Given the description of an element on the screen output the (x, y) to click on. 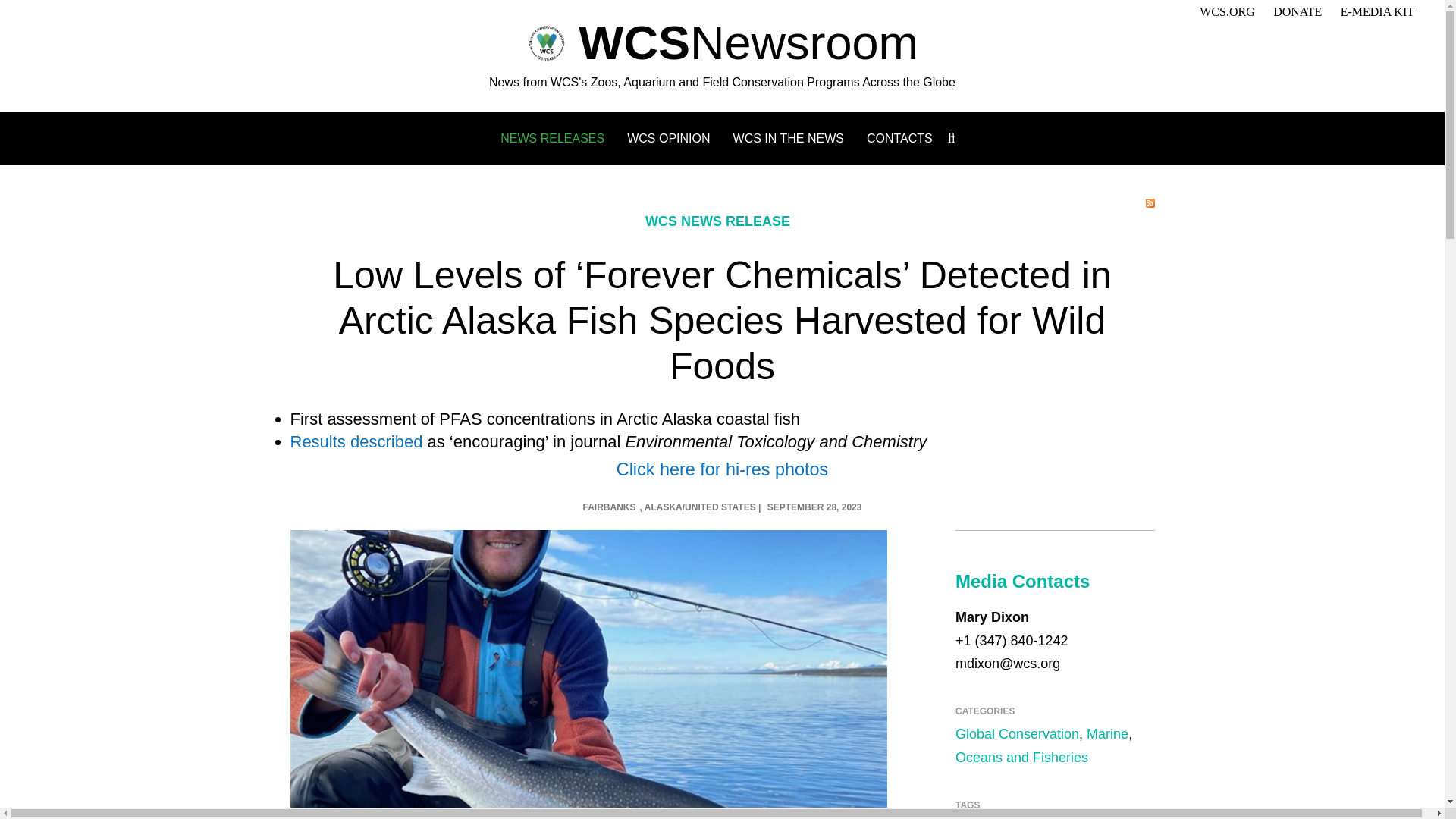
WCS IN THE NEWS (788, 138)
NEWS RELEASES (552, 138)
Oceans and Fisheries (1021, 757)
WCS.ORG (1226, 11)
DONATE (1297, 11)
WCS NEWS RELEASE (717, 221)
Marine (1107, 734)
Global Conservation (1016, 734)
E-MEDIA KIT (1376, 11)
Results described (355, 441)
CONTACTS (899, 138)
Click here for hi-res photos (721, 469)
WCS OPINION (668, 138)
